Given the description of an element on the screen output the (x, y) to click on. 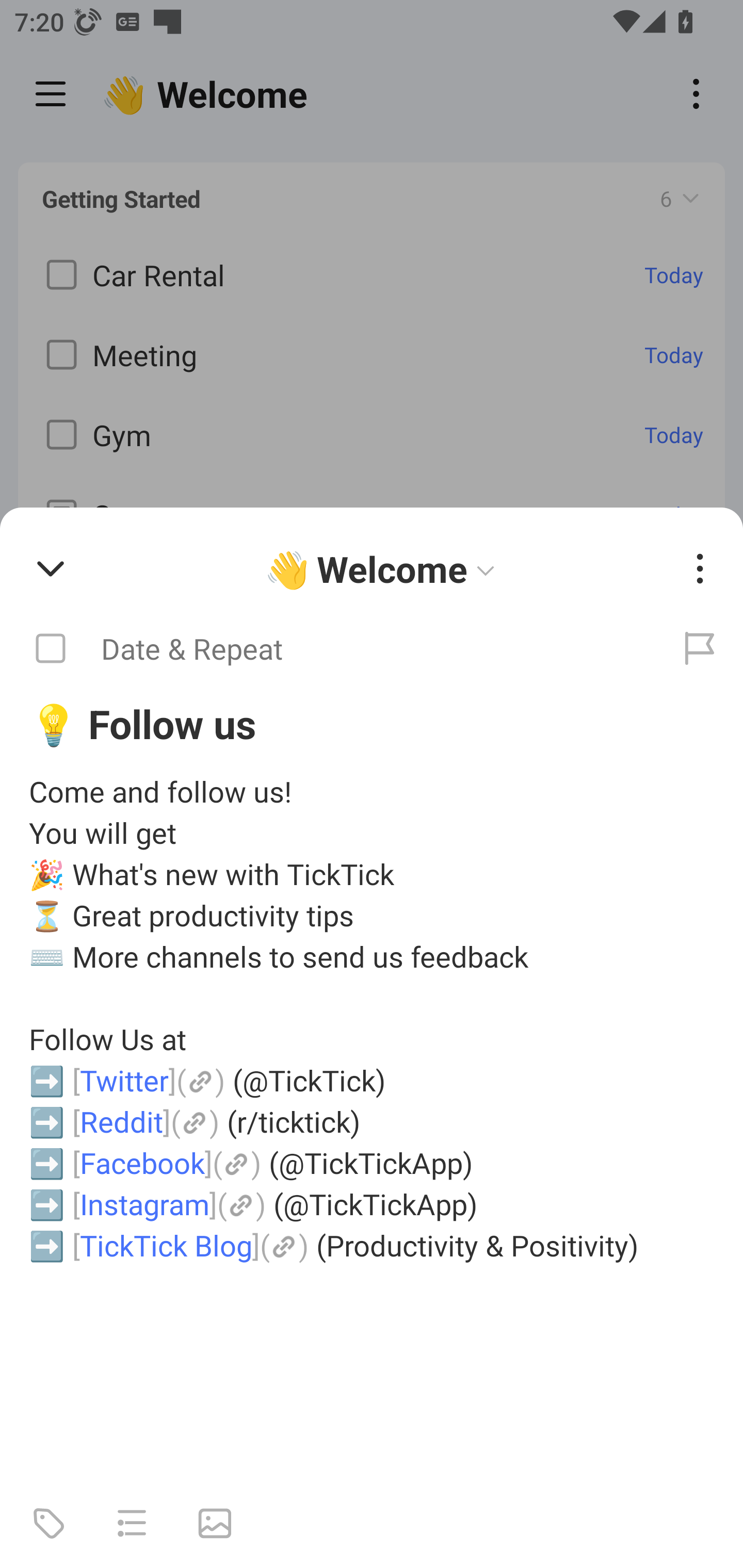
👋 Welcome (384, 568)
Date & Repeat (328, 649)
💡 Follow us (371, 722)
